Given the description of an element on the screen output the (x, y) to click on. 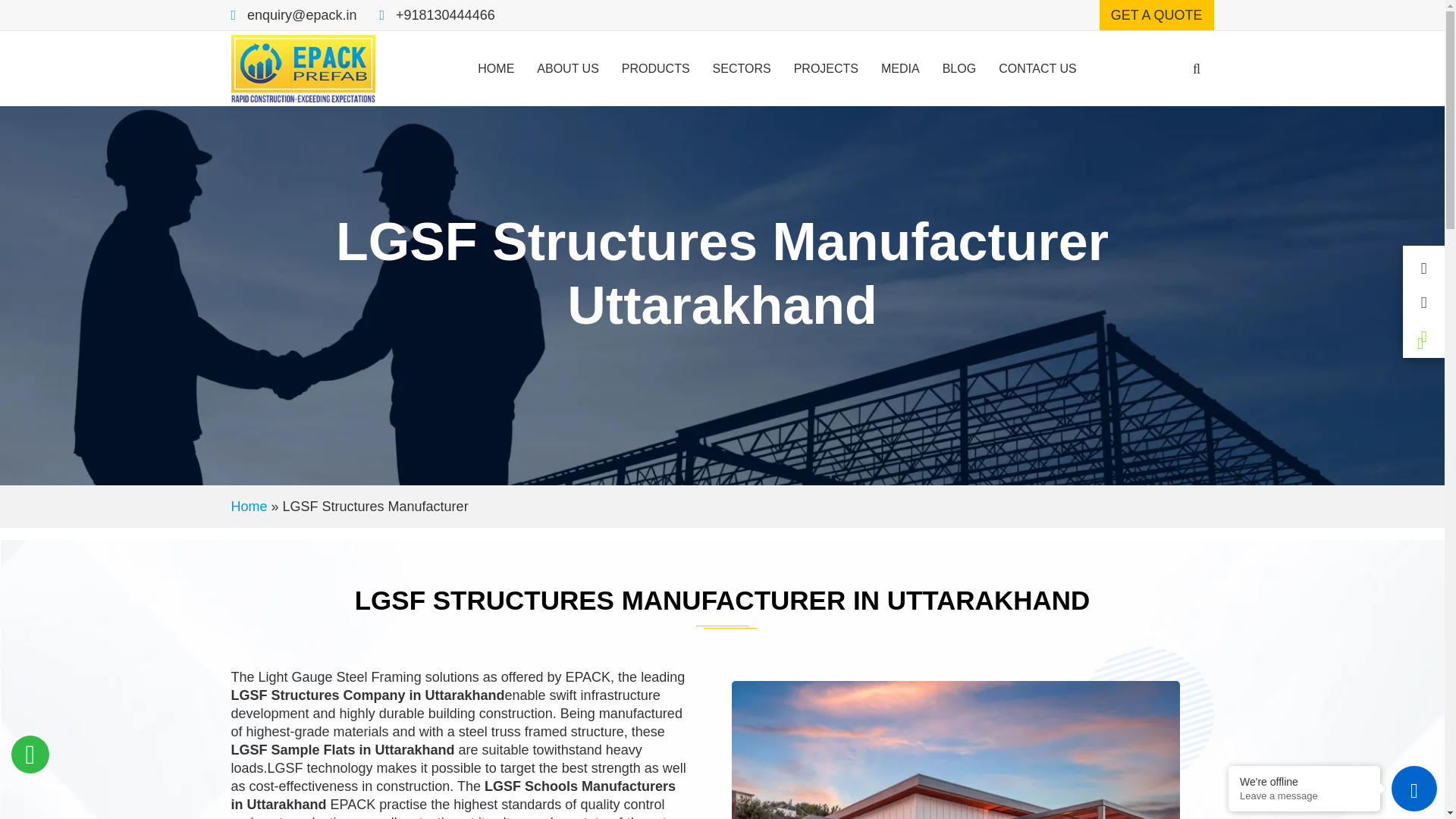
Leave a message (1304, 795)
We're offline (1304, 781)
EPACK Prefab (302, 67)
whatsapp (30, 754)
